Given the description of an element on the screen output the (x, y) to click on. 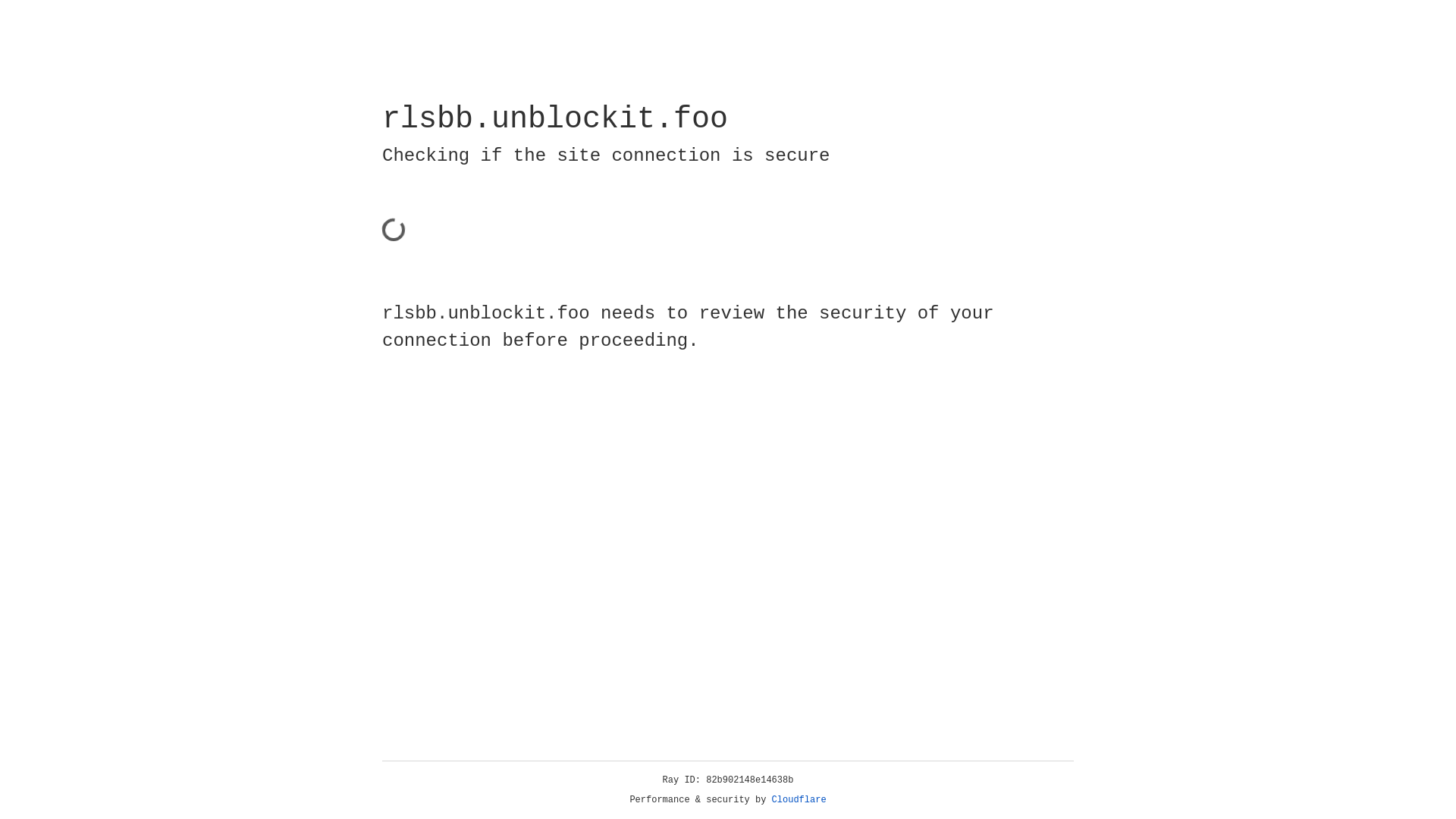
Cloudflare Element type: text (798, 799)
